Given the description of an element on the screen output the (x, y) to click on. 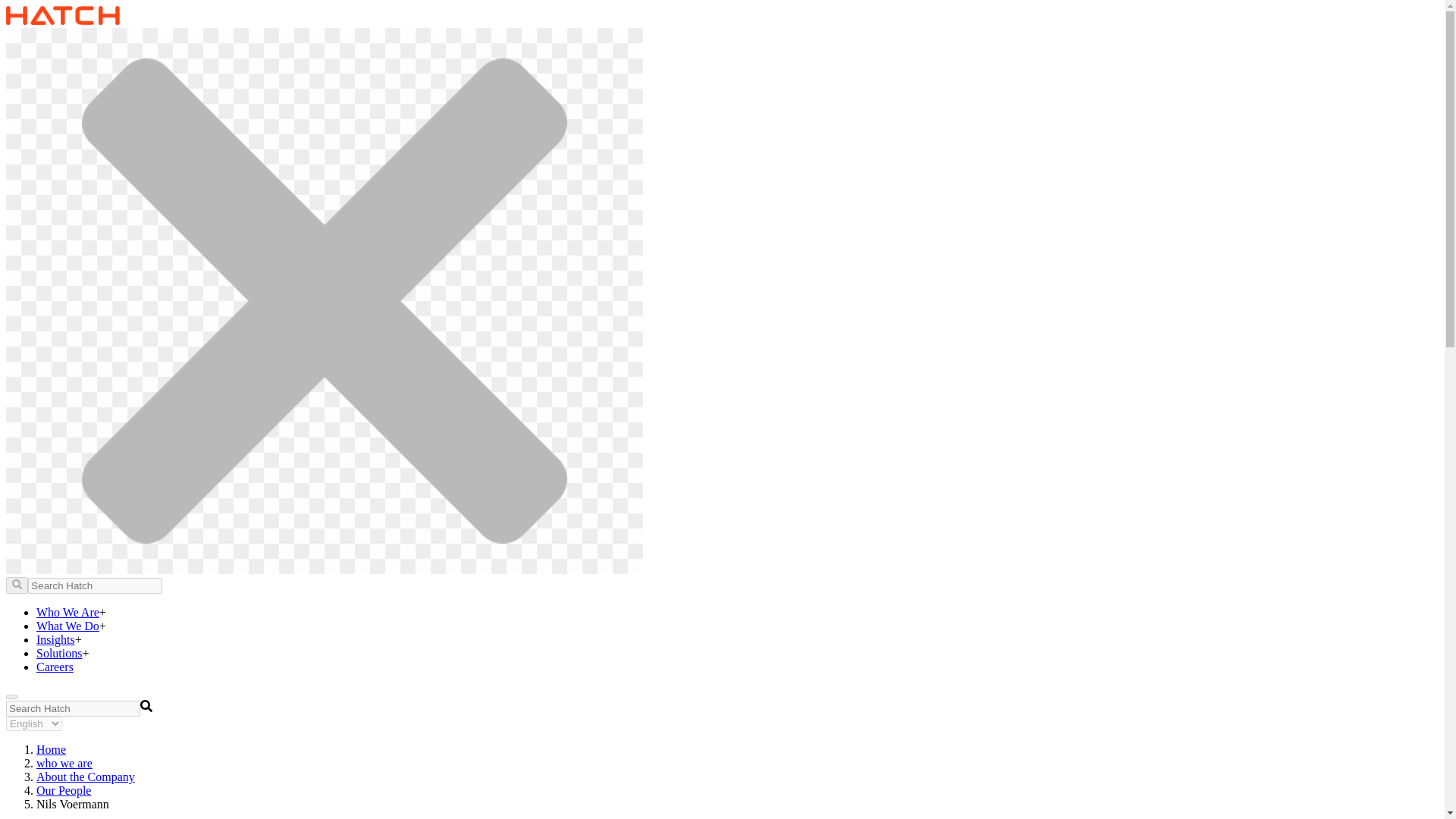
What We Do (67, 625)
who we are (64, 762)
Insights (55, 639)
our-people (63, 789)
Our People (63, 789)
Hatch (62, 20)
about-the-company (85, 776)
about-us (64, 762)
Search (145, 705)
Solutions (58, 653)
